Given the description of an element on the screen output the (x, y) to click on. 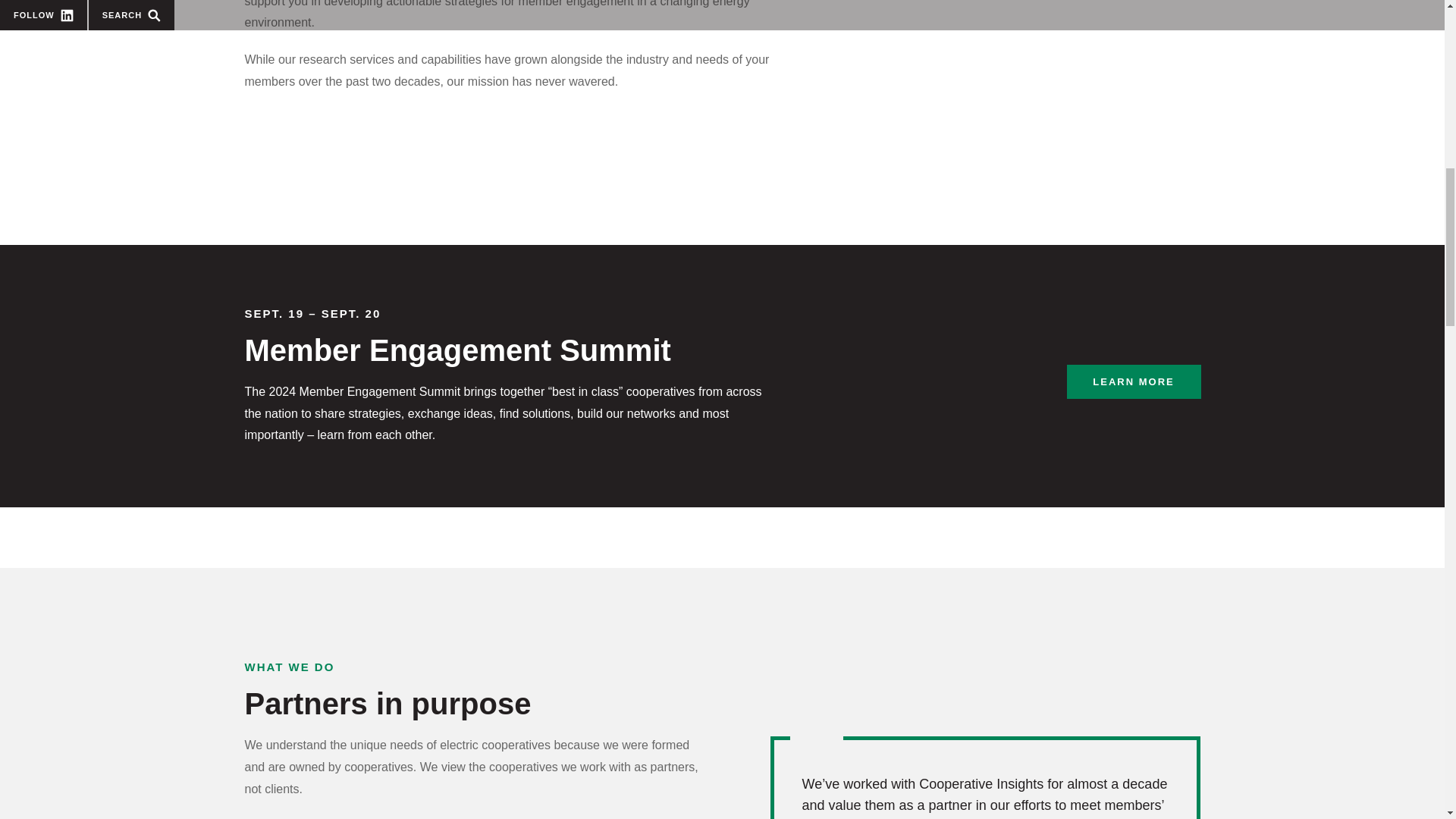
LEARN MORE (1133, 381)
